Given the description of an element on the screen output the (x, y) to click on. 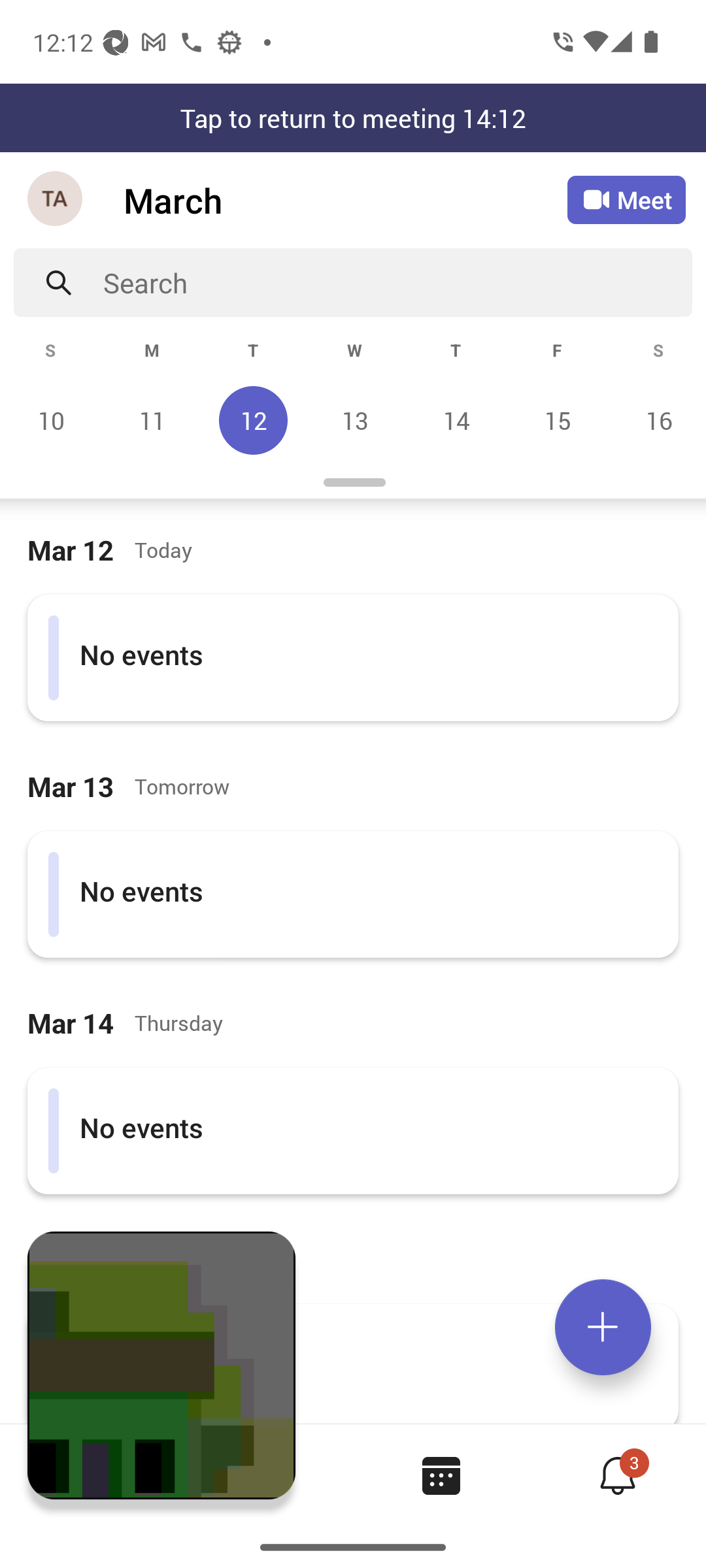
Tap to return to meeting 14:12 (353, 117)
Navigation (56, 199)
Meet Meet now or join with an ID (626, 199)
March March Calendar Agenda View (345, 199)
Search (397, 281)
Sunday, March 10 10 (50, 420)
Monday, March 11 11 (151, 420)
Tuesday, March 12, Today, Selected 12 (253, 420)
Wednesday, March 13 13 (354, 420)
Thursday, March 14 14 (455, 420)
Friday, March 15 15 (556, 420)
Saturday, March 16 16 (656, 420)
Expand meetings menu (602, 1327)
Calendar tab, 3 of 4 (441, 1475)
Activity tab,4 of 4, not selected, 3 new 3 (617, 1475)
